Given the description of an element on the screen output the (x, y) to click on. 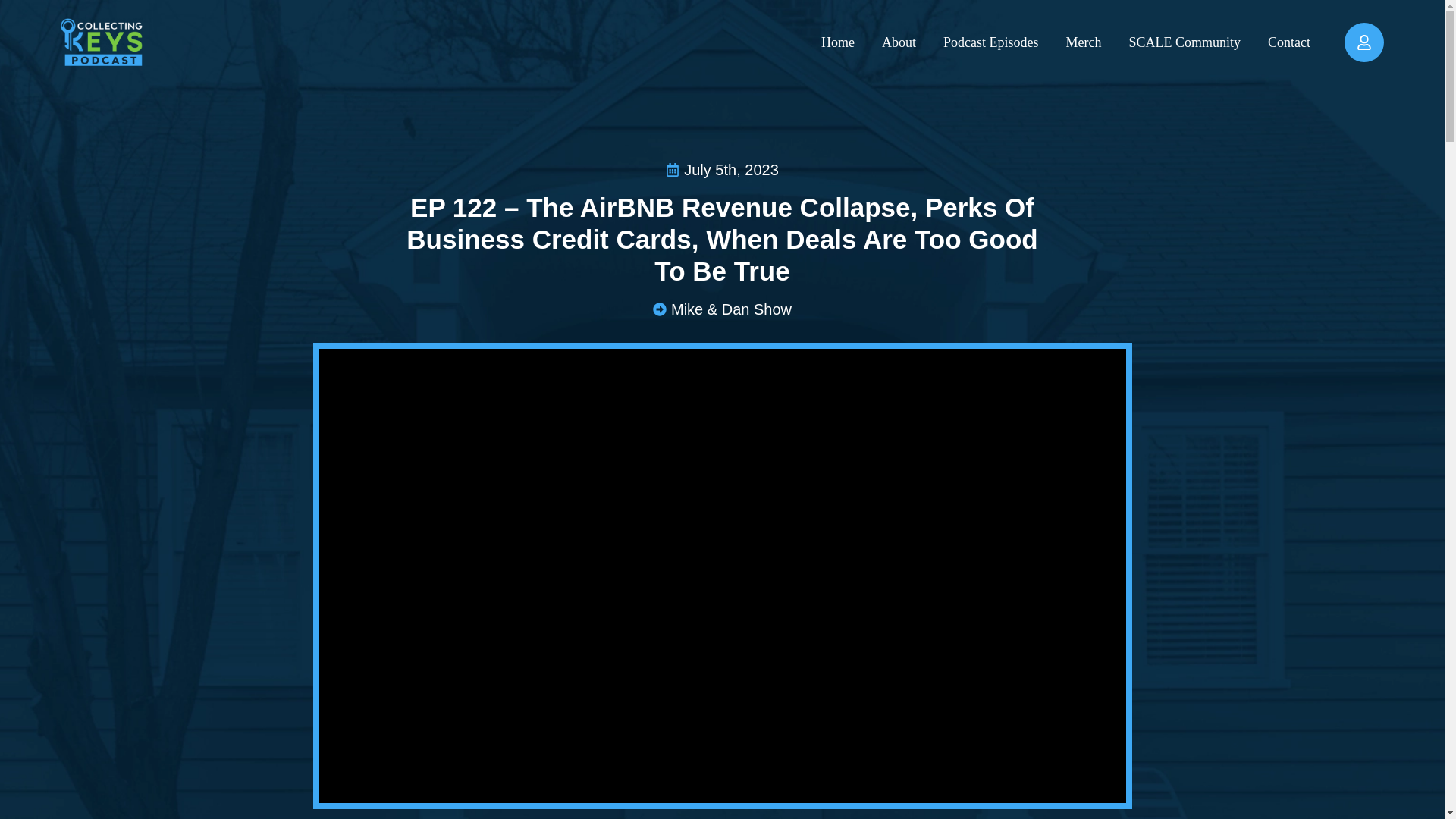
Home (837, 41)
Merch (1083, 41)
About (898, 41)
Podcast Episodes (991, 41)
SCALE Community (1184, 41)
Contact (1288, 41)
